Given the description of an element on the screen output the (x, y) to click on. 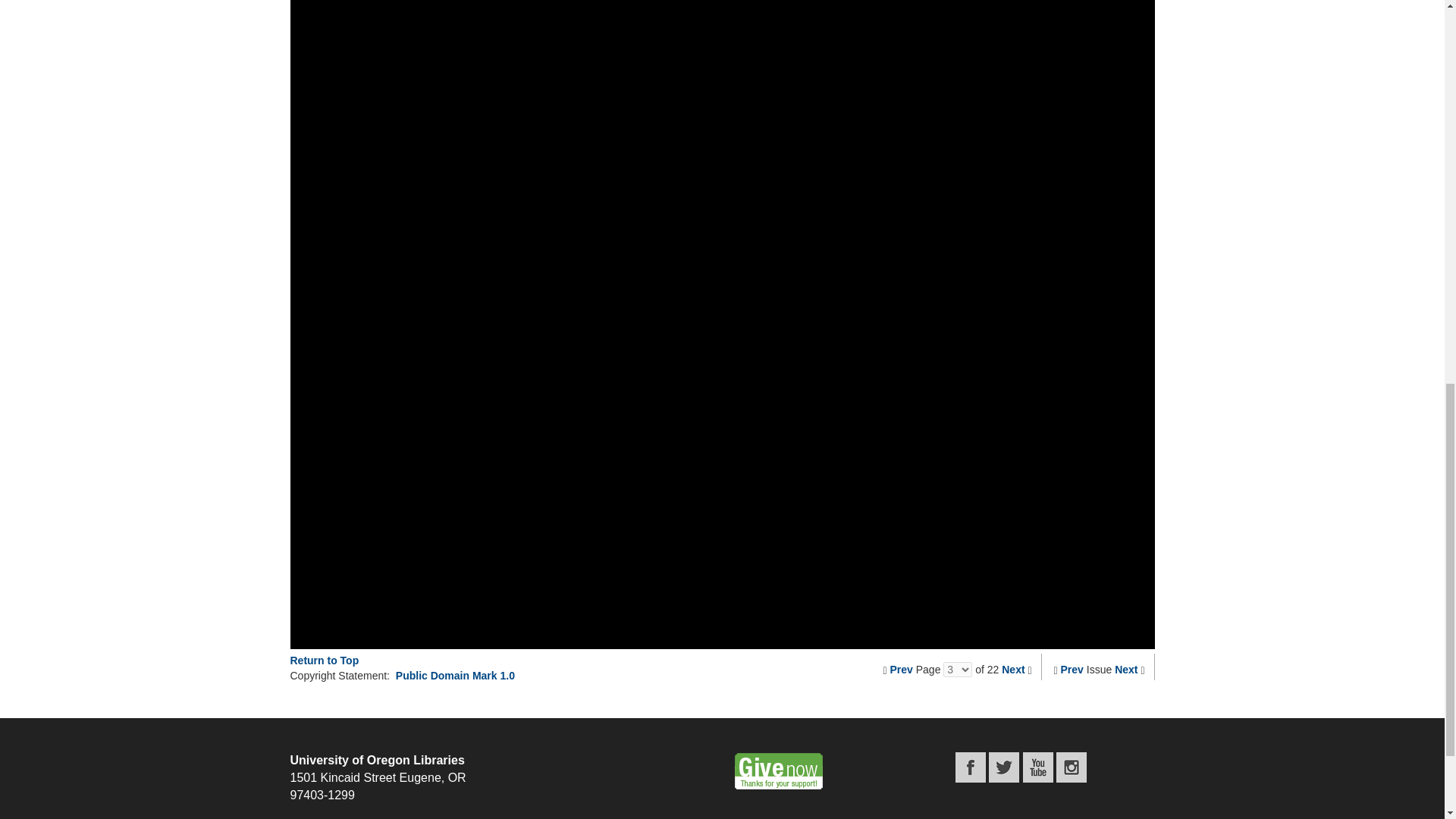
Prev (1072, 669)
Prev (900, 669)
Public Domain Mark 1.0 (455, 675)
Return to Top (323, 660)
Next (1126, 669)
Next (1013, 669)
